Given the description of an element on the screen output the (x, y) to click on. 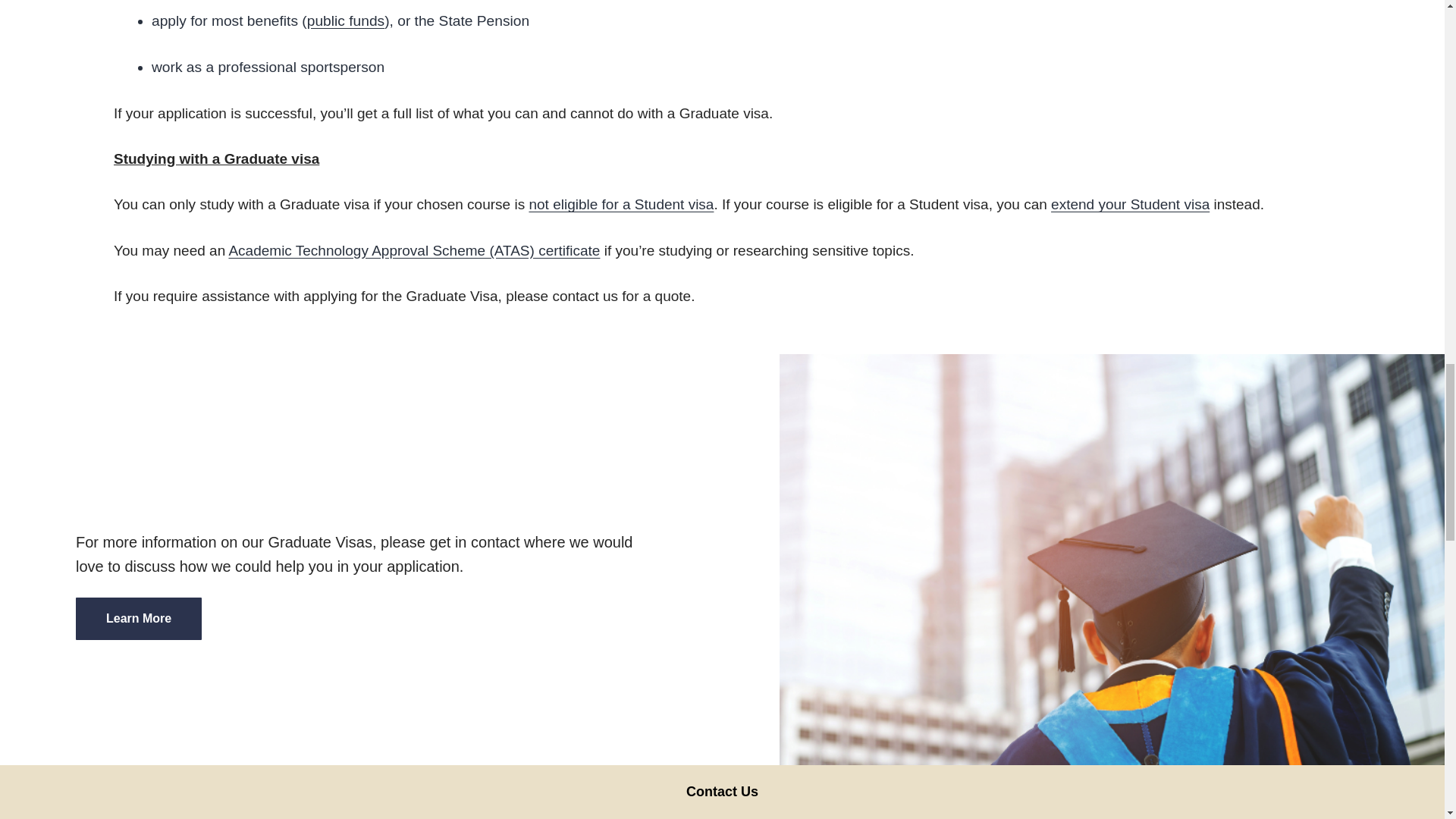
public funds (345, 20)
extend your Student visa (1130, 204)
not eligible for a Student visa (620, 204)
Learn More (138, 618)
